Given the description of an element on the screen output the (x, y) to click on. 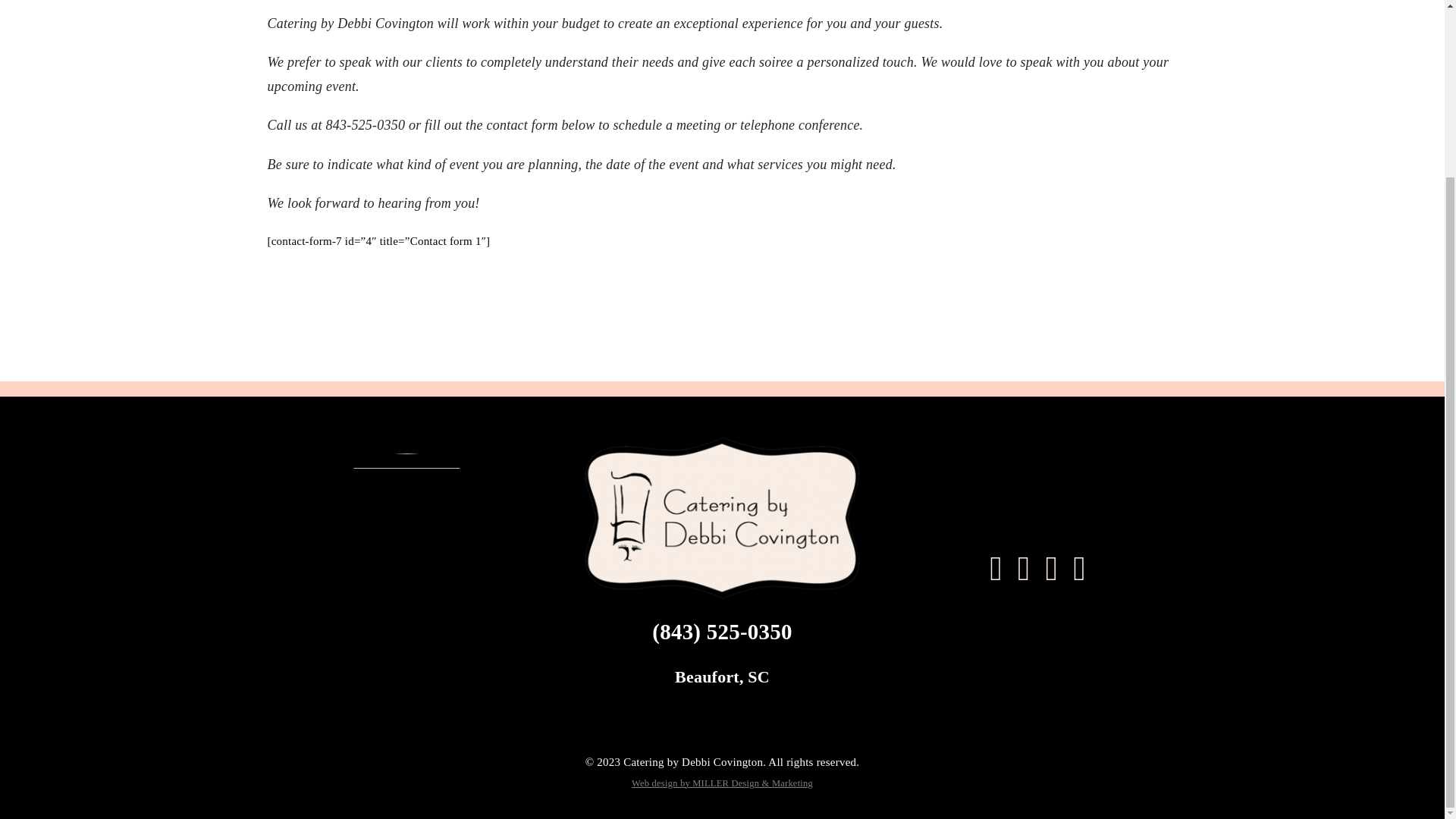
catering by debbi covington logo 600px (721, 517)
